Given the description of an element on the screen output the (x, y) to click on. 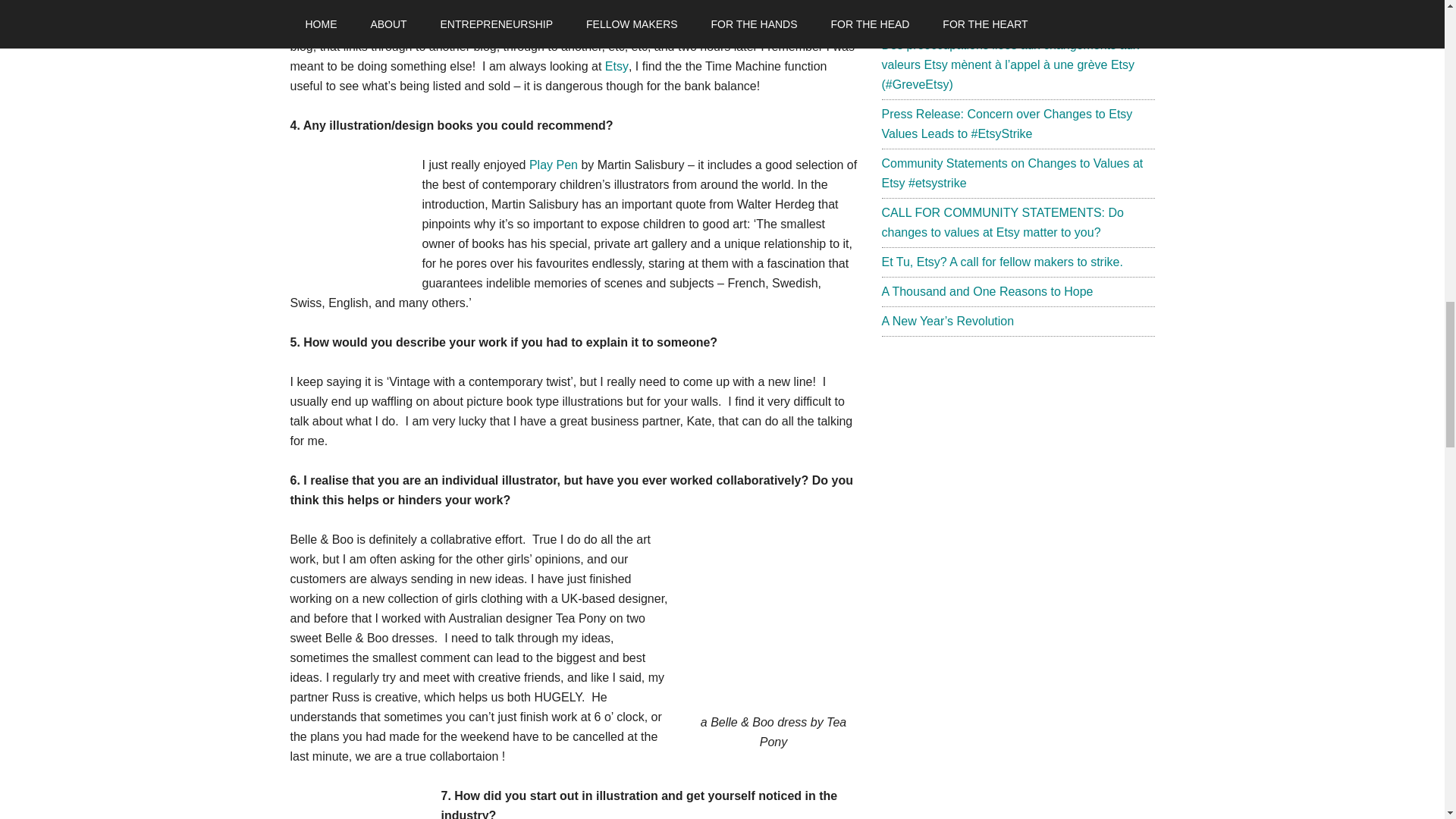
Tiny Showcase (432, 6)
decor8 (614, 6)
my blog (580, 26)
